Given the description of an element on the screen output the (x, y) to click on. 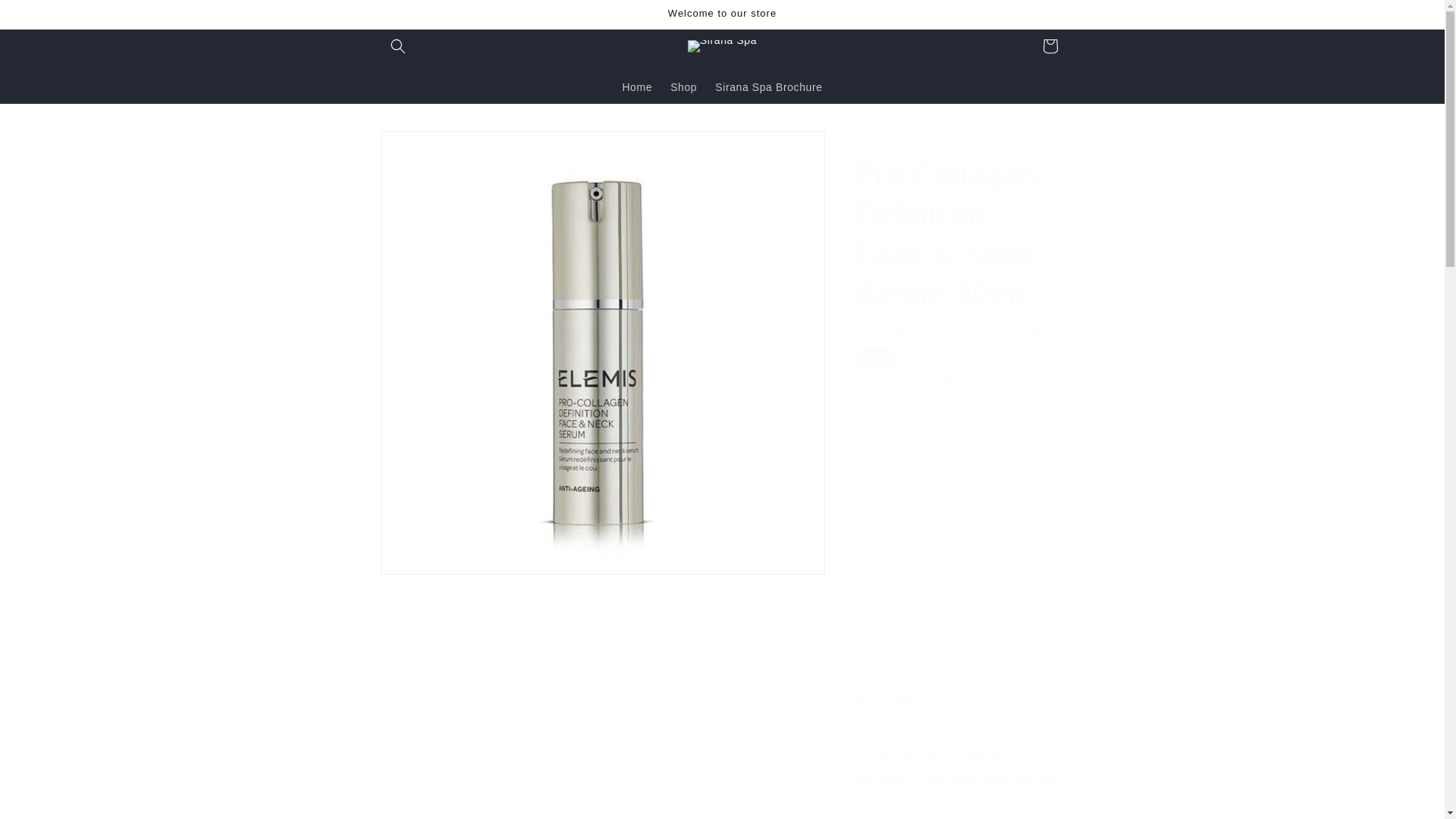
Sirana Spa Brochure (768, 87)
Skip to content (45, 17)
Cart (1048, 46)
Add to cart (960, 506)
Shop (683, 87)
1 (908, 451)
Shipping (948, 379)
Skip to product information (426, 148)
Home (636, 87)
